Given the description of an element on the screen output the (x, y) to click on. 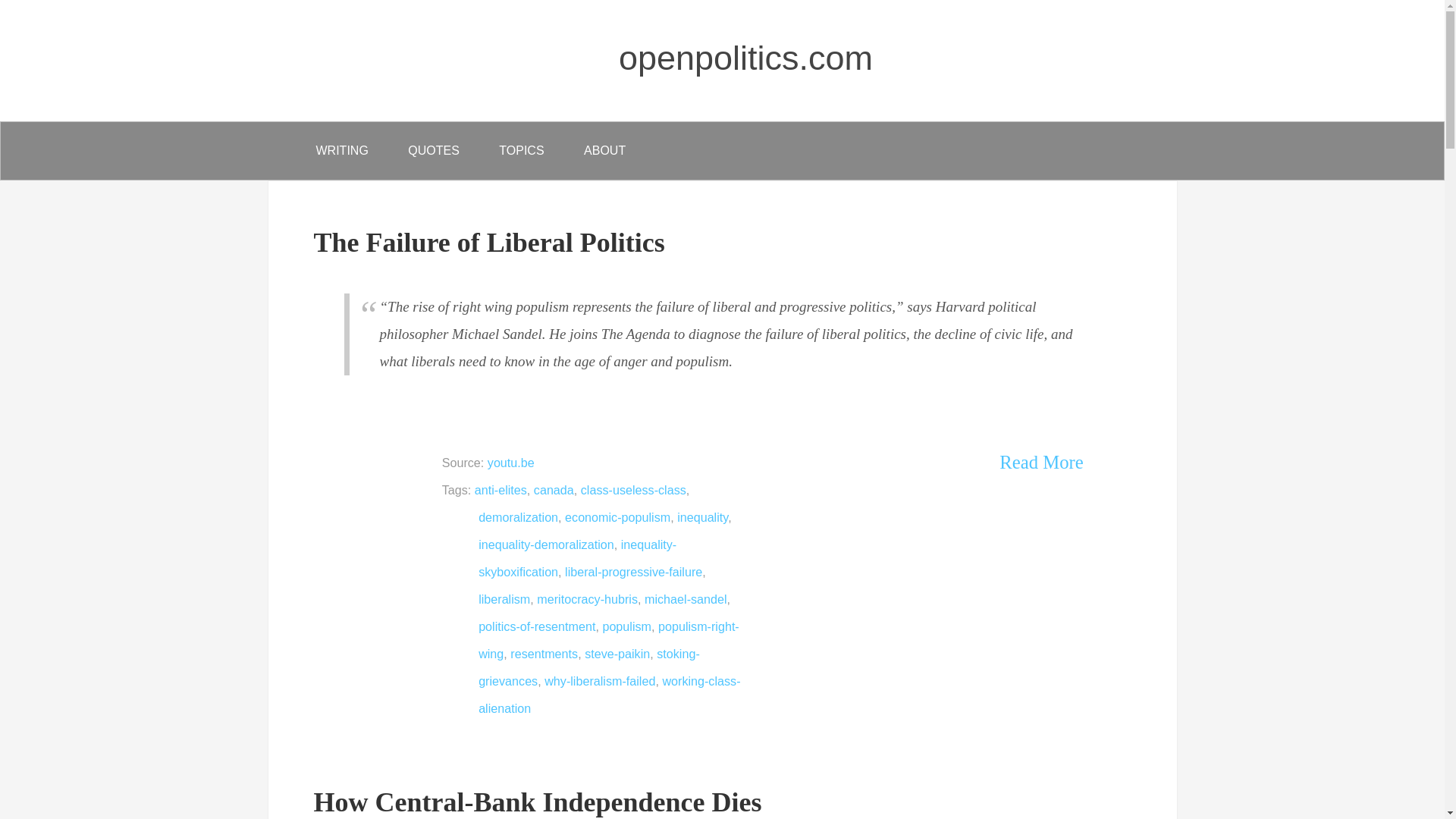
liberal-progressive-failure (632, 571)
stoking-grievances (589, 667)
inequality (702, 517)
economic-populism (616, 517)
The Failure of Liberal Politics (489, 242)
steve-paikin (617, 653)
resentments (544, 653)
michael-sandel (685, 599)
openpolitics.com (745, 57)
inequality-demoralization (546, 544)
